Given the description of an element on the screen output the (x, y) to click on. 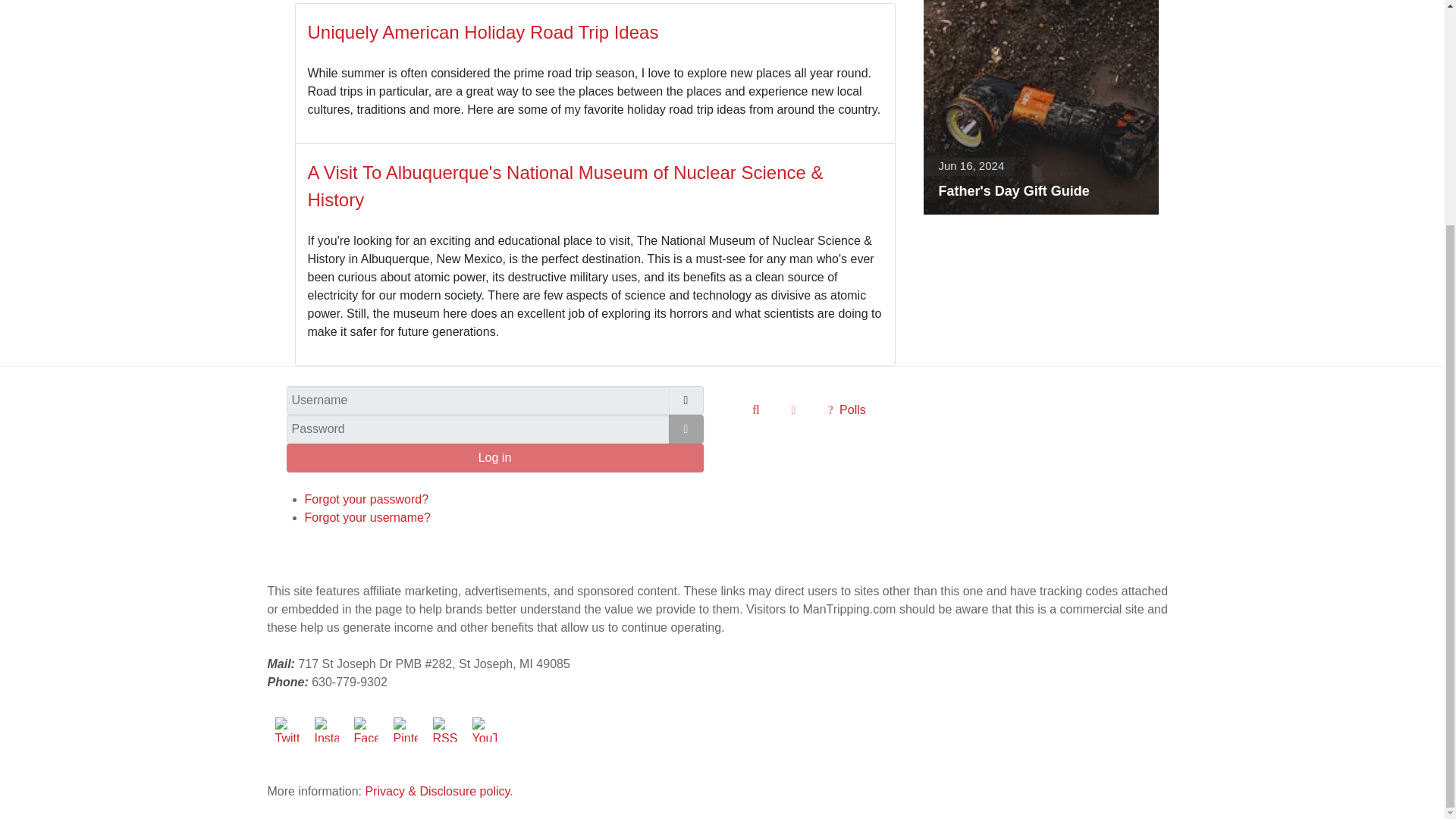
Polls (845, 409)
Show Password (685, 428)
Forgot your password? (366, 499)
Polls (845, 409)
Username (685, 399)
Uniquely American Holiday Road Trip Ideas (483, 32)
Log in (494, 457)
Forgot your username? (367, 517)
Father's Day Gift Guide (1040, 107)
